Given the description of an element on the screen output the (x, y) to click on. 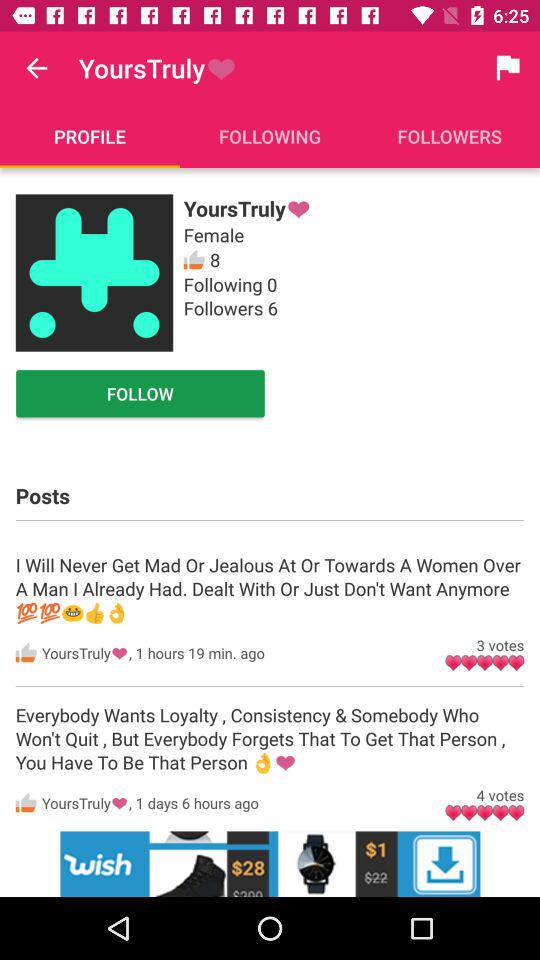
add the option (270, 864)
